Given the description of an element on the screen output the (x, y) to click on. 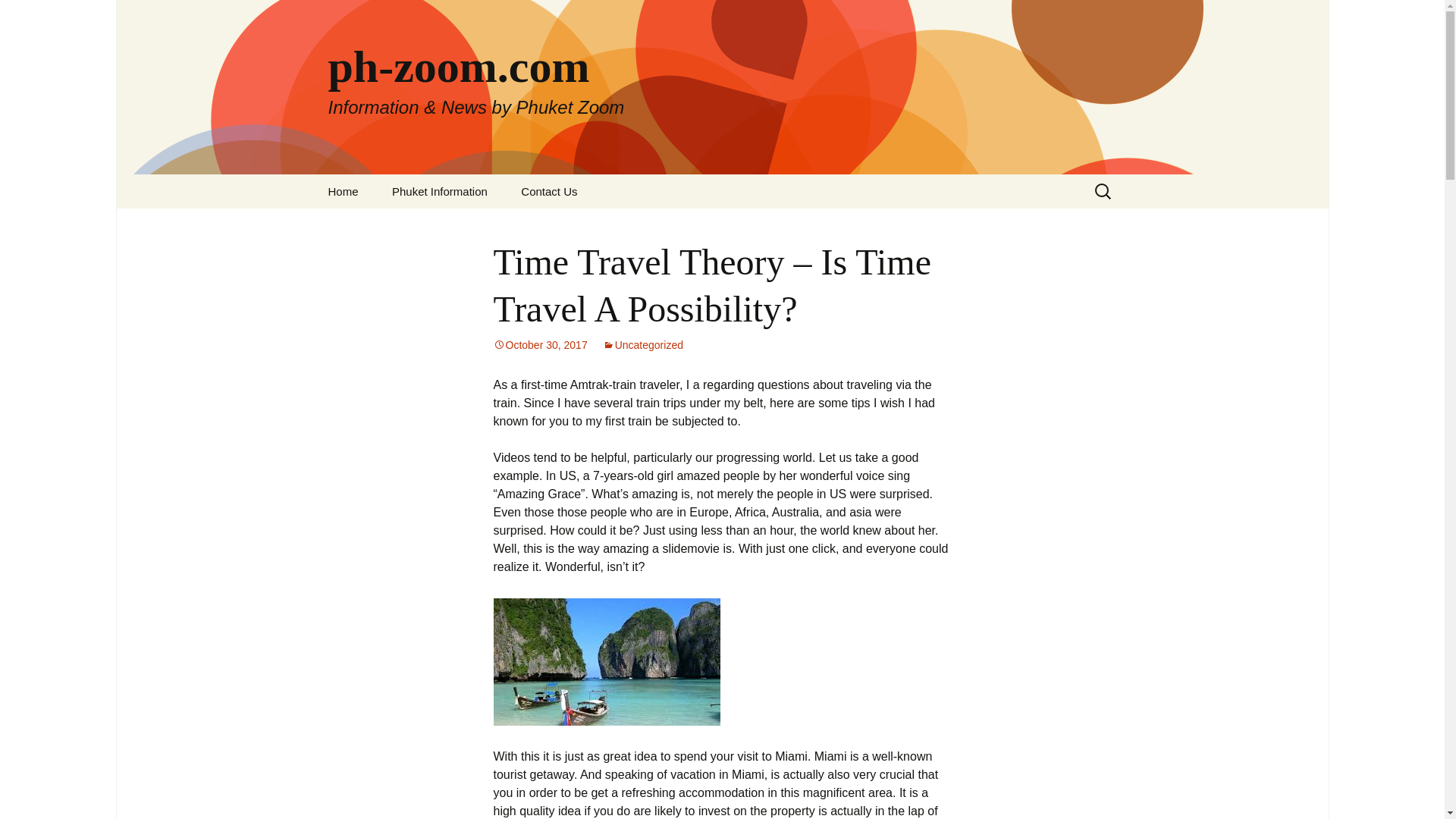
Uncategorized (642, 345)
Search (18, 15)
October 30, 2017 (539, 345)
Search (34, 15)
Phuket Information (439, 191)
Home (342, 191)
Contact Us (548, 191)
